Given the description of an element on the screen output the (x, y) to click on. 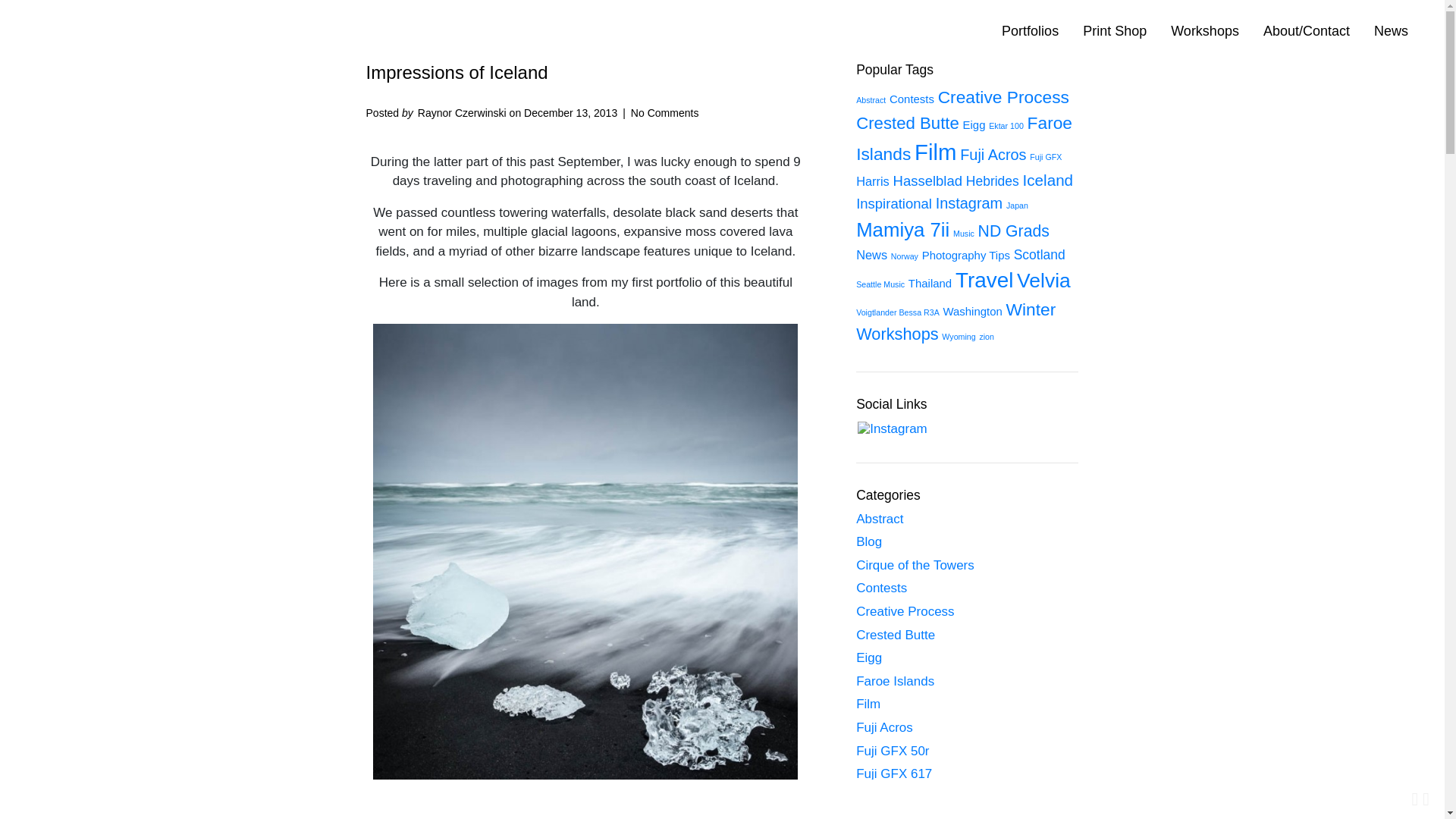
Abstract (870, 99)
Ektar 100 (1005, 125)
Portfolios (1030, 30)
Instagram (892, 428)
Fuji GFX (1045, 156)
Hebrides (992, 181)
Raynor Czerwinski (461, 112)
News (1391, 30)
Eigg (973, 124)
